Given the description of an element on the screen output the (x, y) to click on. 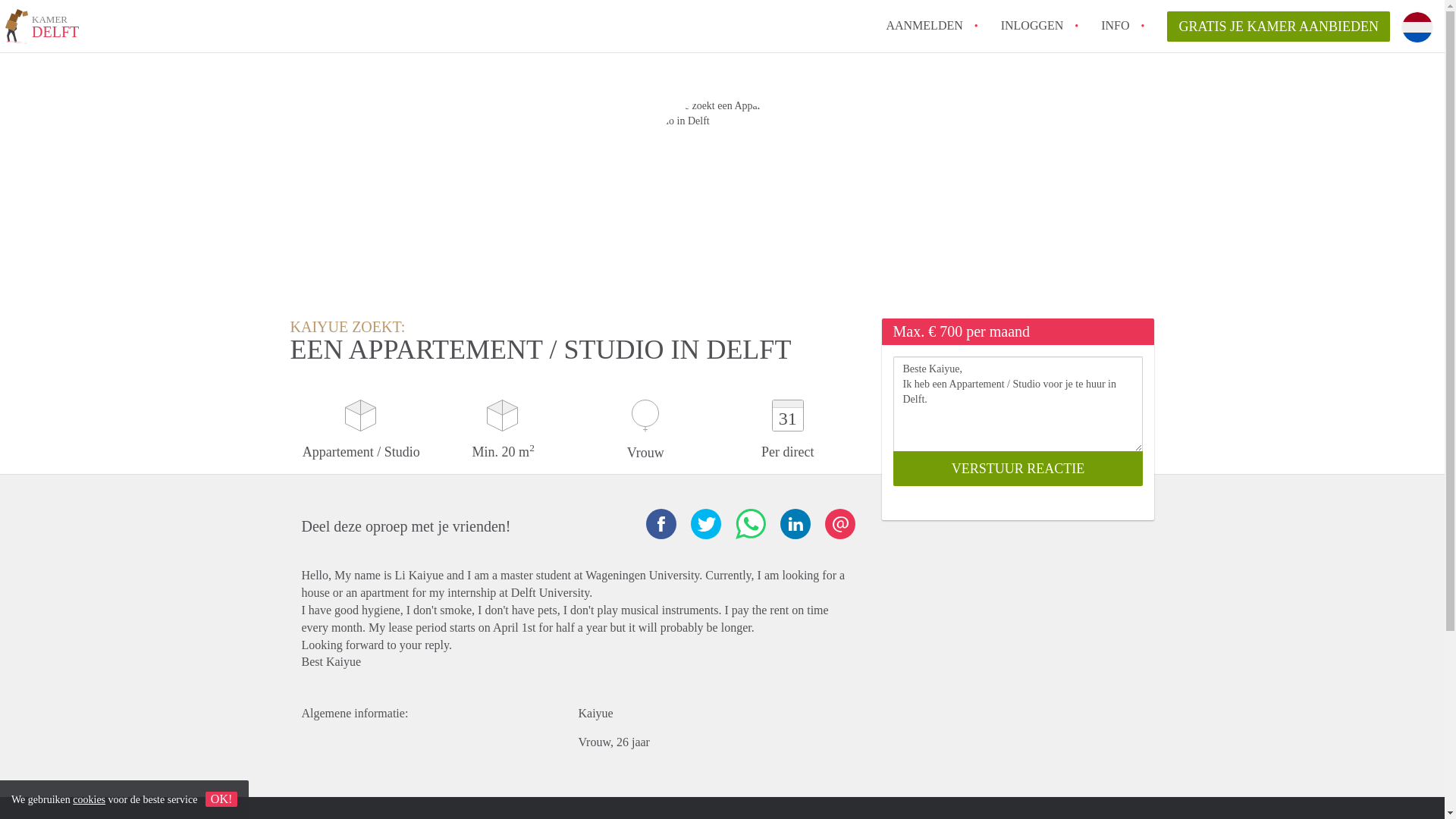
INFO (1114, 25)
Terug naar de homepage (41, 28)
Inloggen met je gegevens (1032, 25)
Antwoorden op veelgestelde vragen (1114, 25)
VERSTUUR REACTIE (1017, 468)
Deel deze oproep via Twitter (705, 523)
AANMELDEN (923, 25)
Deel deze oproep via Facebook (661, 523)
GRATIS JE KAMER AANBIEDEN (1278, 26)
VERSTUUR REACTIE (1017, 468)
Deel deze oproep via Whatsapp (750, 523)
Gratis je Kamer aanbieden (41, 28)
Deel deze oproep via E-mail (1278, 26)
OK! (840, 523)
